Given the description of an element on the screen output the (x, y) to click on. 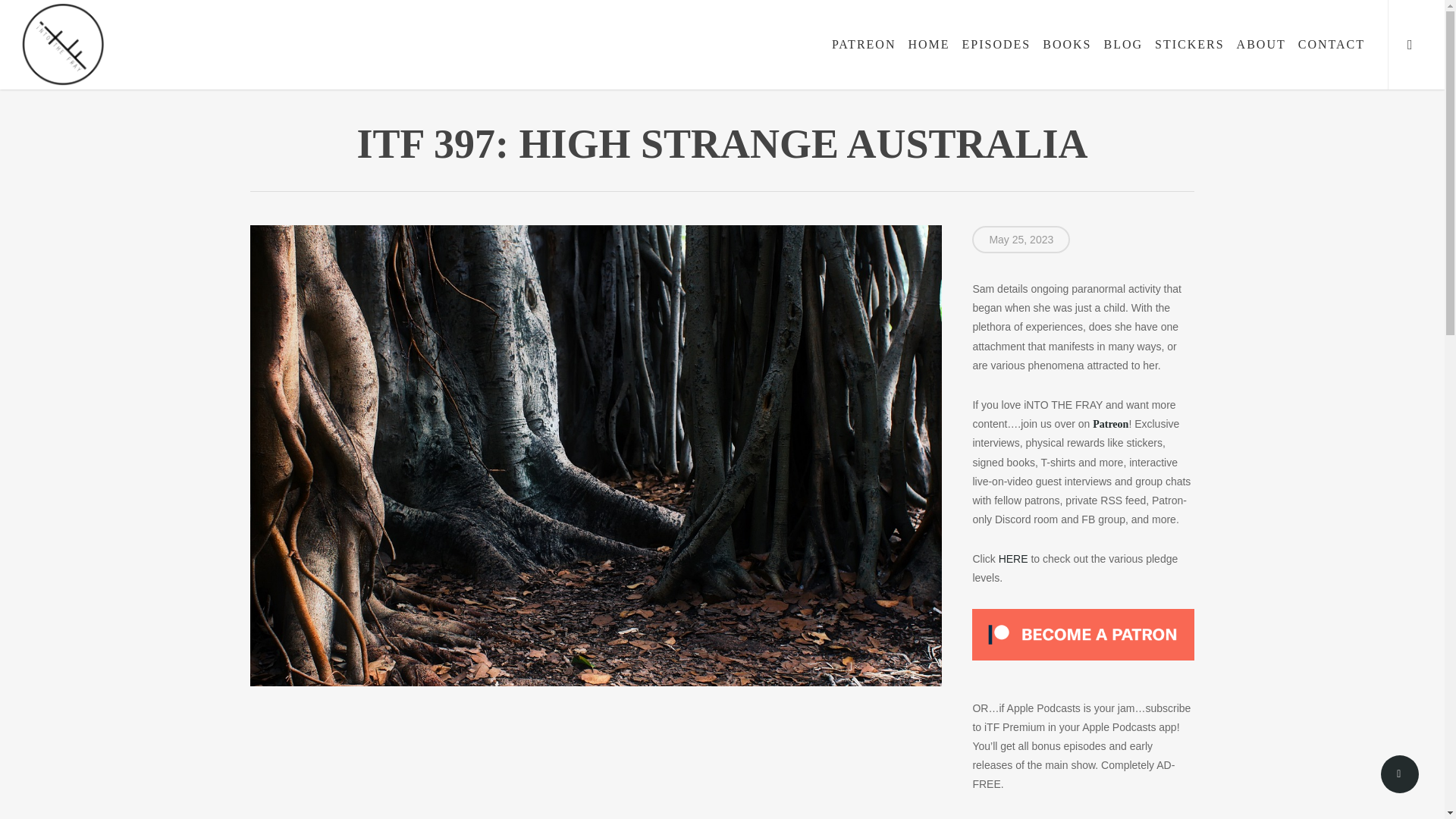
EPISODES (996, 44)
HERE (1014, 558)
PATREON (863, 44)
BLOG (1122, 44)
Patreon (1110, 423)
HOME (928, 44)
ABOUT (1261, 44)
CONTACT (1331, 44)
STICKERS (1189, 44)
BOOKS (1066, 44)
